Given the description of an element on the screen output the (x, y) to click on. 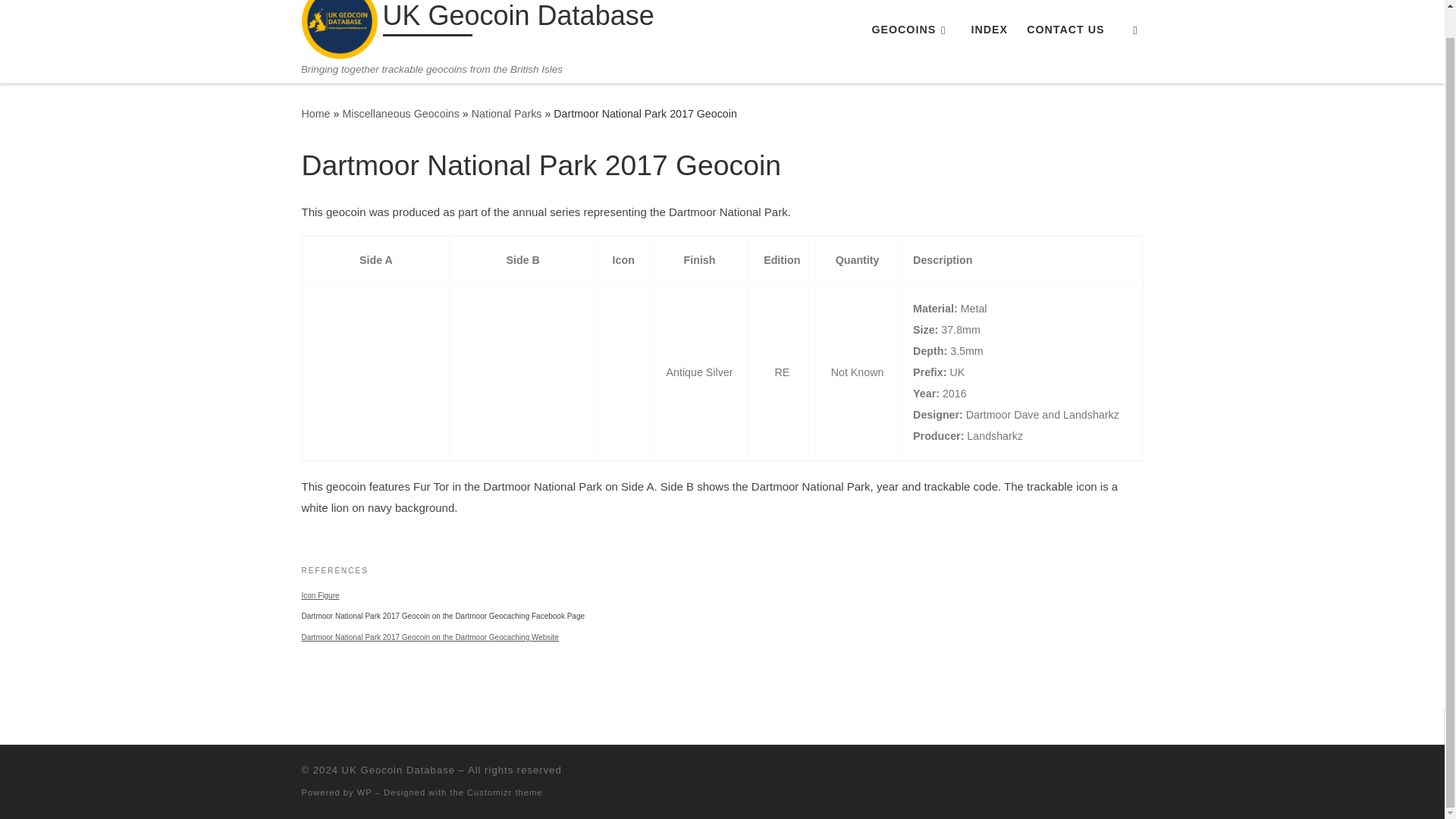
Miscellaneous Geocoins (400, 113)
UK Geocoin Database (398, 769)
Customizr theme (505, 791)
UK Geocoin Database (315, 113)
National Parks (506, 113)
CONTACT US (1065, 29)
Powered by WordPress (364, 791)
UK Geocoin Database (517, 19)
Skip to content (60, 4)
GEOCOINS (911, 29)
